Given the description of an element on the screen output the (x, y) to click on. 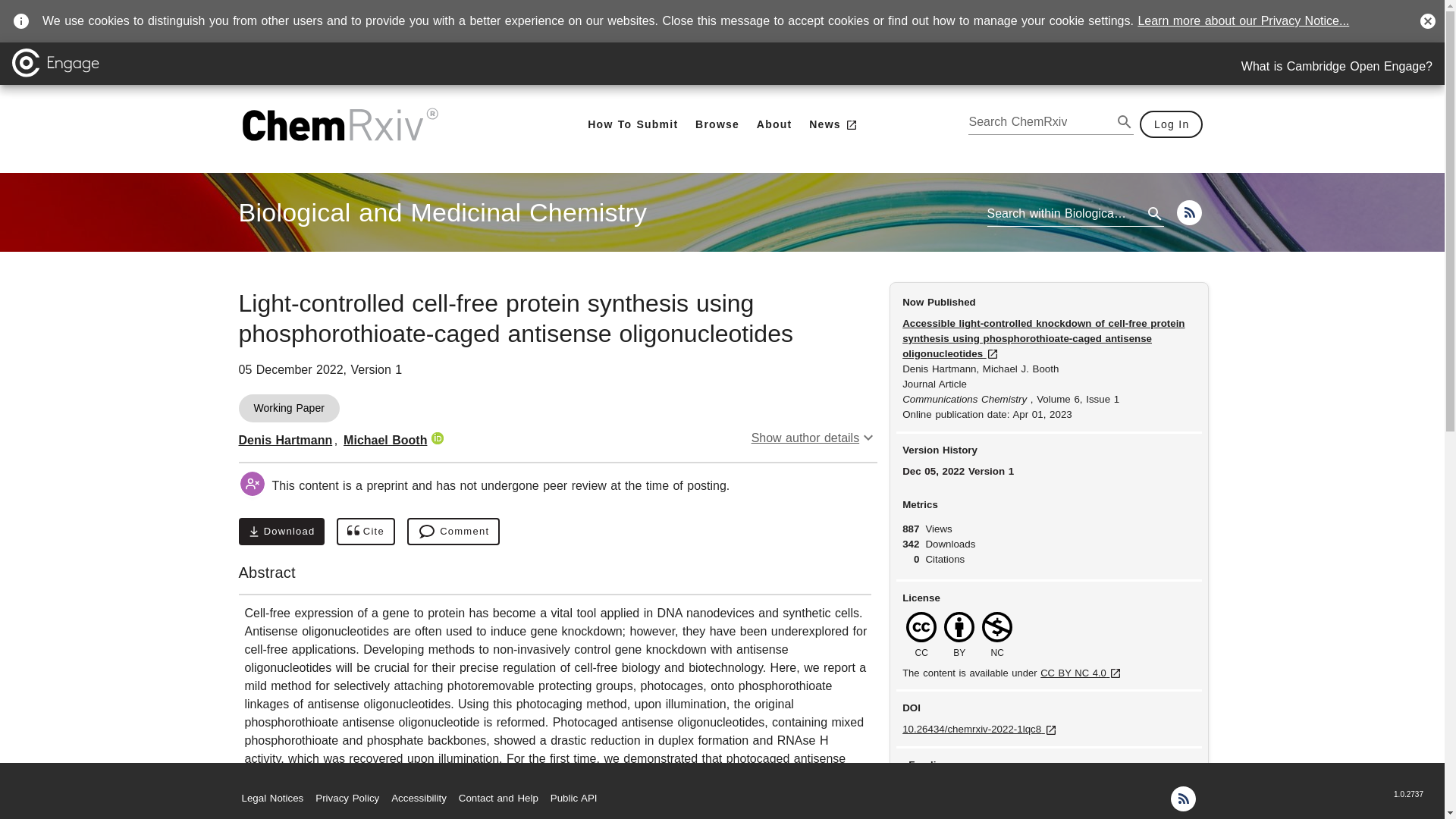
Show author details (814, 437)
Log In (1172, 124)
Cite (365, 531)
Comment (453, 531)
Denis Hartmann (442, 212)
Download (284, 440)
Browse (280, 531)
About (716, 124)
Michael Booth (773, 124)
What is Cambridge Open Engage? (384, 440)
How To Submit (1336, 66)
